Given the description of an element on the screen output the (x, y) to click on. 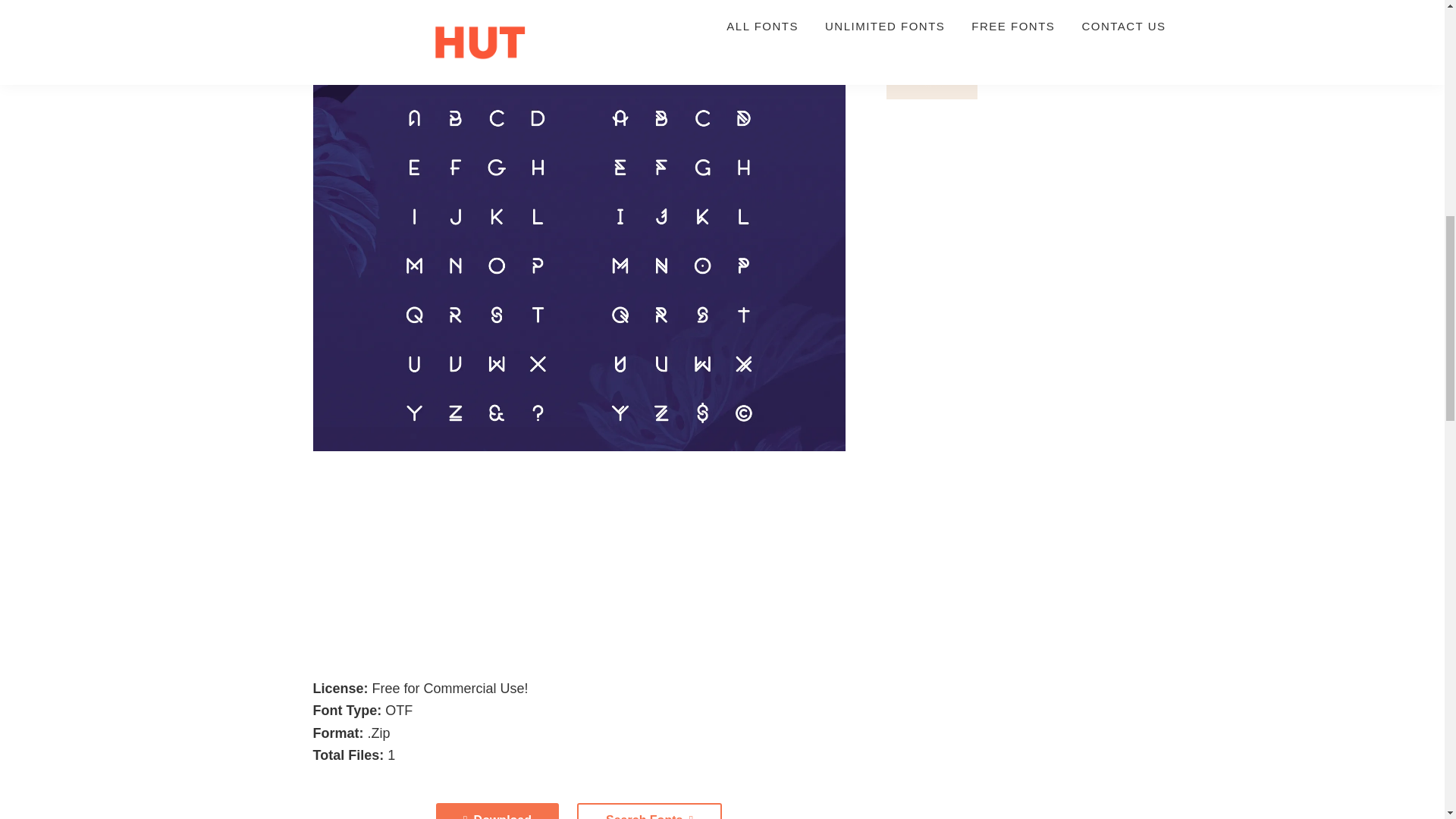
Search Fonts (649, 811)
Download (497, 811)
